Given the description of an element on the screen output the (x, y) to click on. 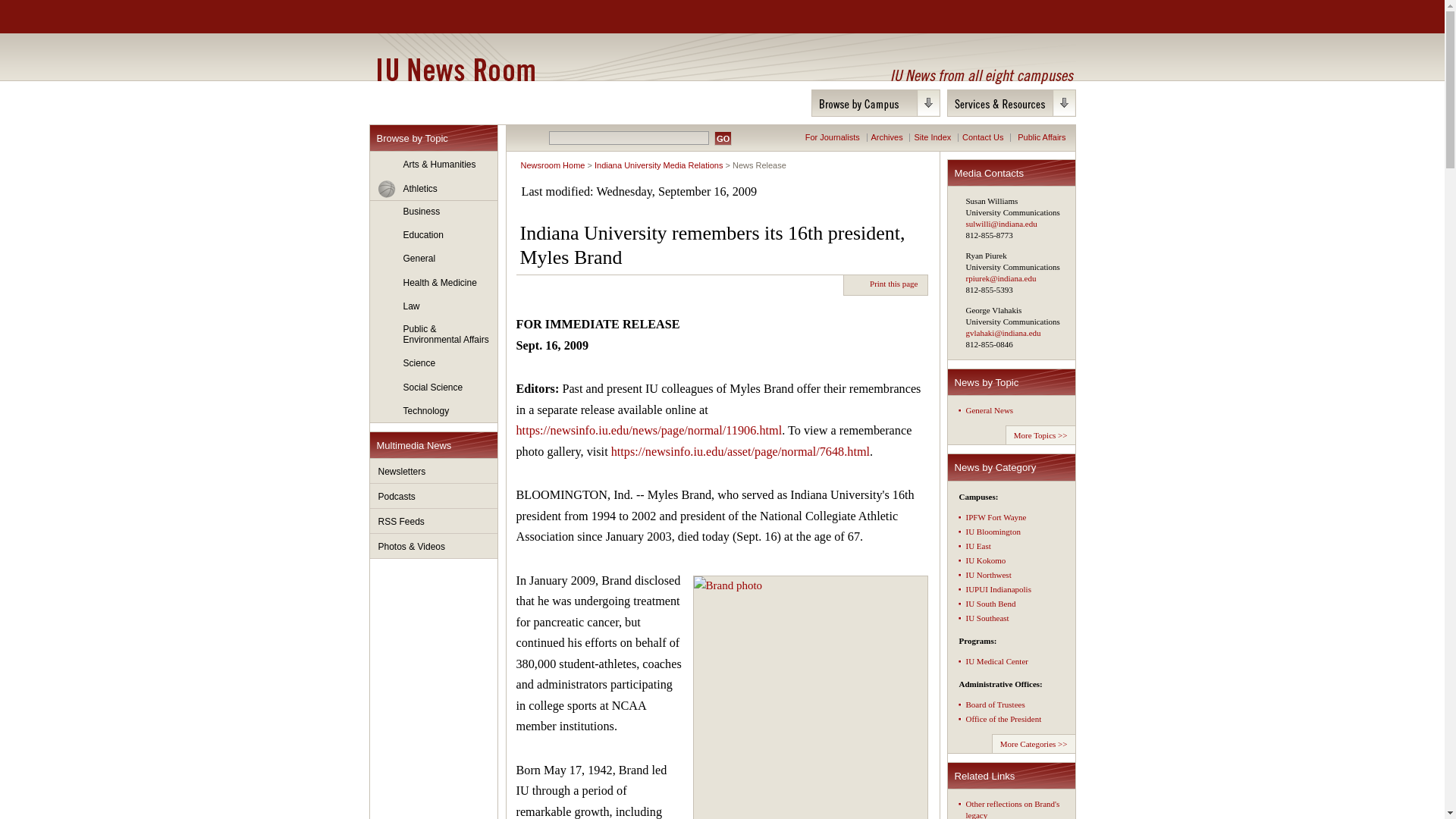
Law (433, 306)
Business (433, 211)
RSS Feeds (433, 520)
General (433, 259)
IU News Room (455, 69)
Science (433, 363)
Athletics (433, 188)
Business (433, 211)
Podcasts (433, 496)
Technology (433, 411)
General (433, 259)
Education (433, 235)
IU News Room (455, 69)
Indiana University (448, 16)
Athletics (433, 188)
